Given the description of an element on the screen output the (x, y) to click on. 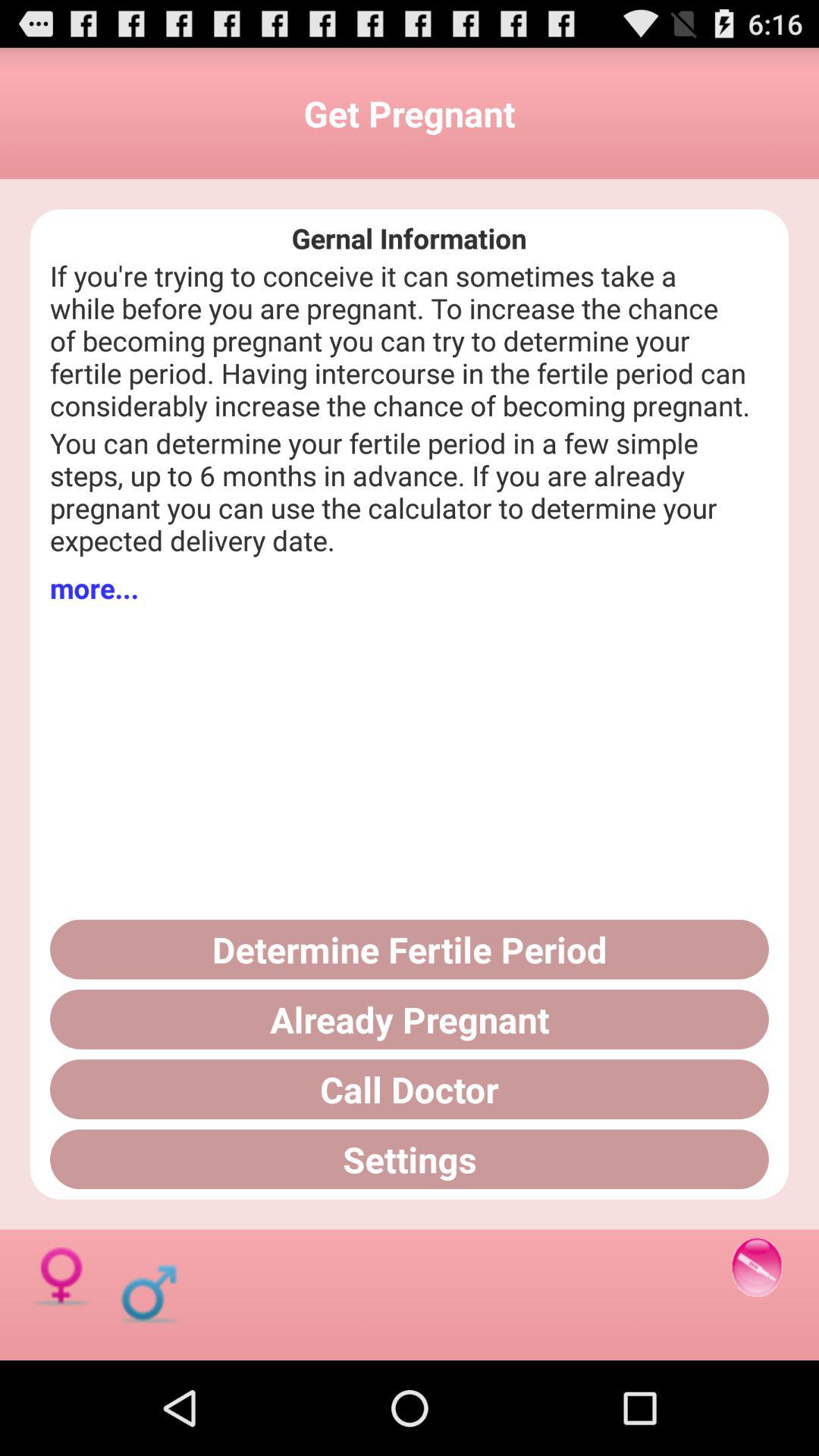
press the button below the call doctor button (409, 1159)
